Given the description of an element on the screen output the (x, y) to click on. 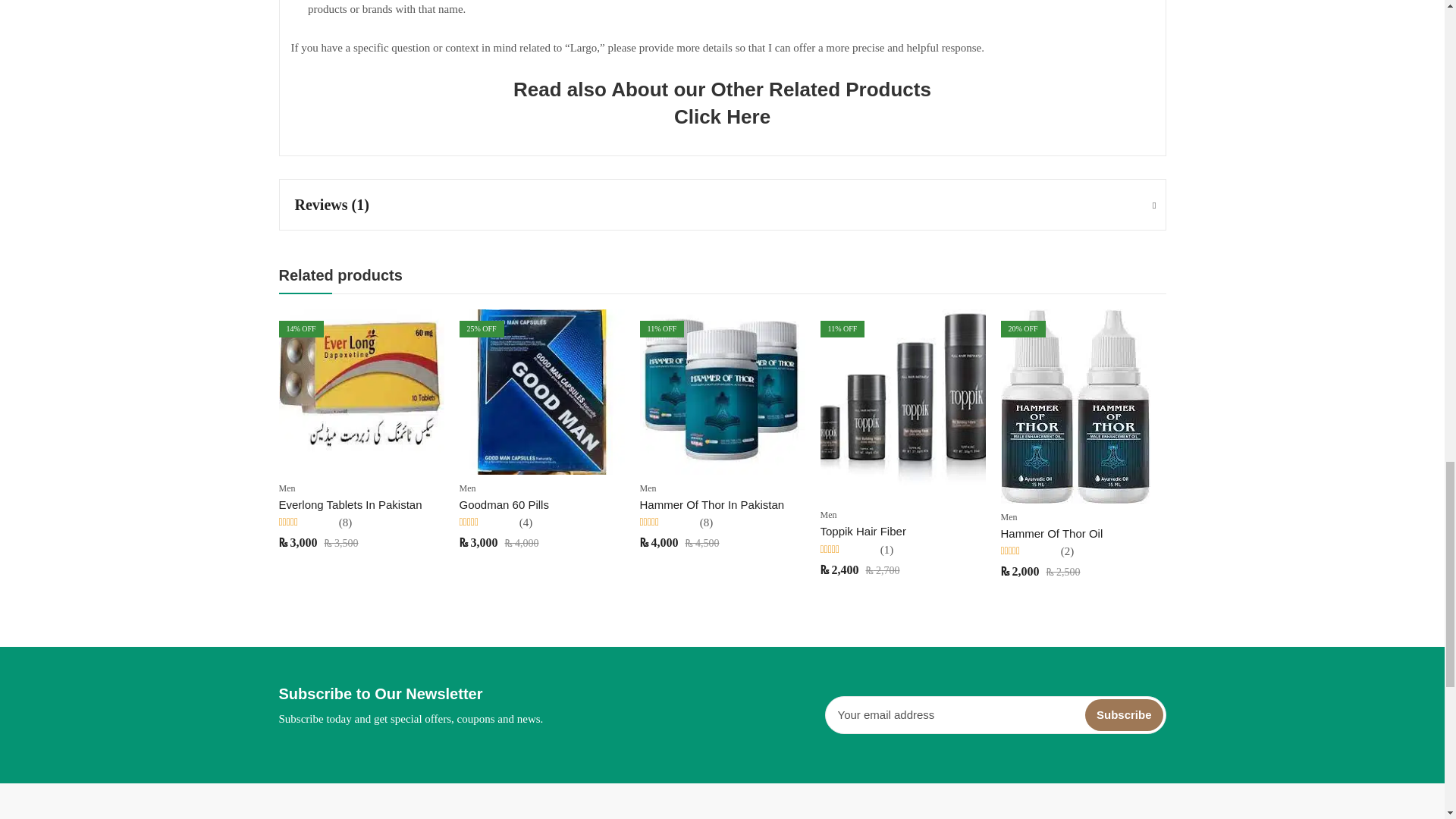
Subscribe (1123, 715)
